Given the description of an element on the screen output the (x, y) to click on. 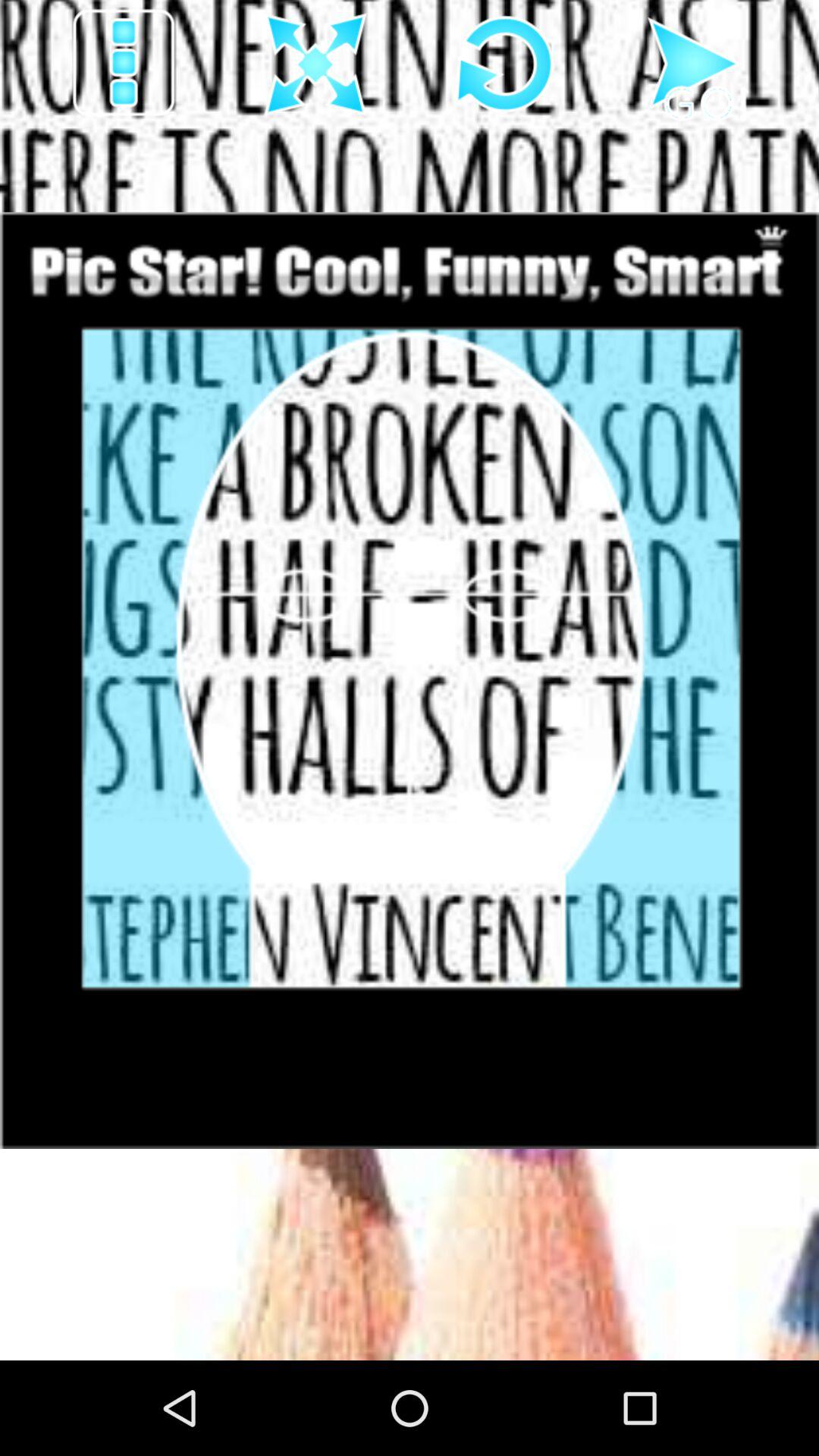
replay (504, 64)
